Given the description of an element on the screen output the (x, y) to click on. 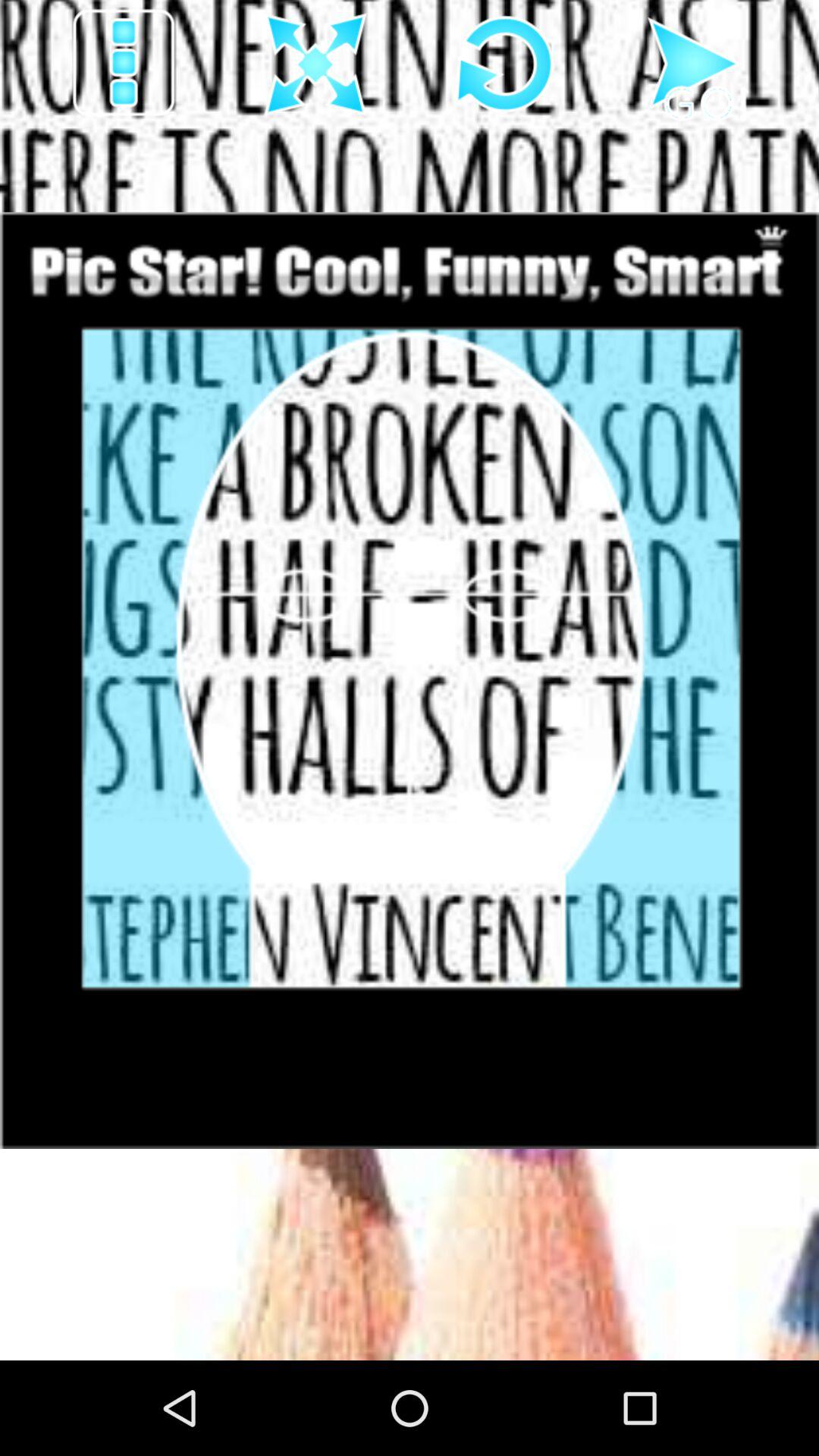
replay (504, 64)
